Given the description of an element on the screen output the (x, y) to click on. 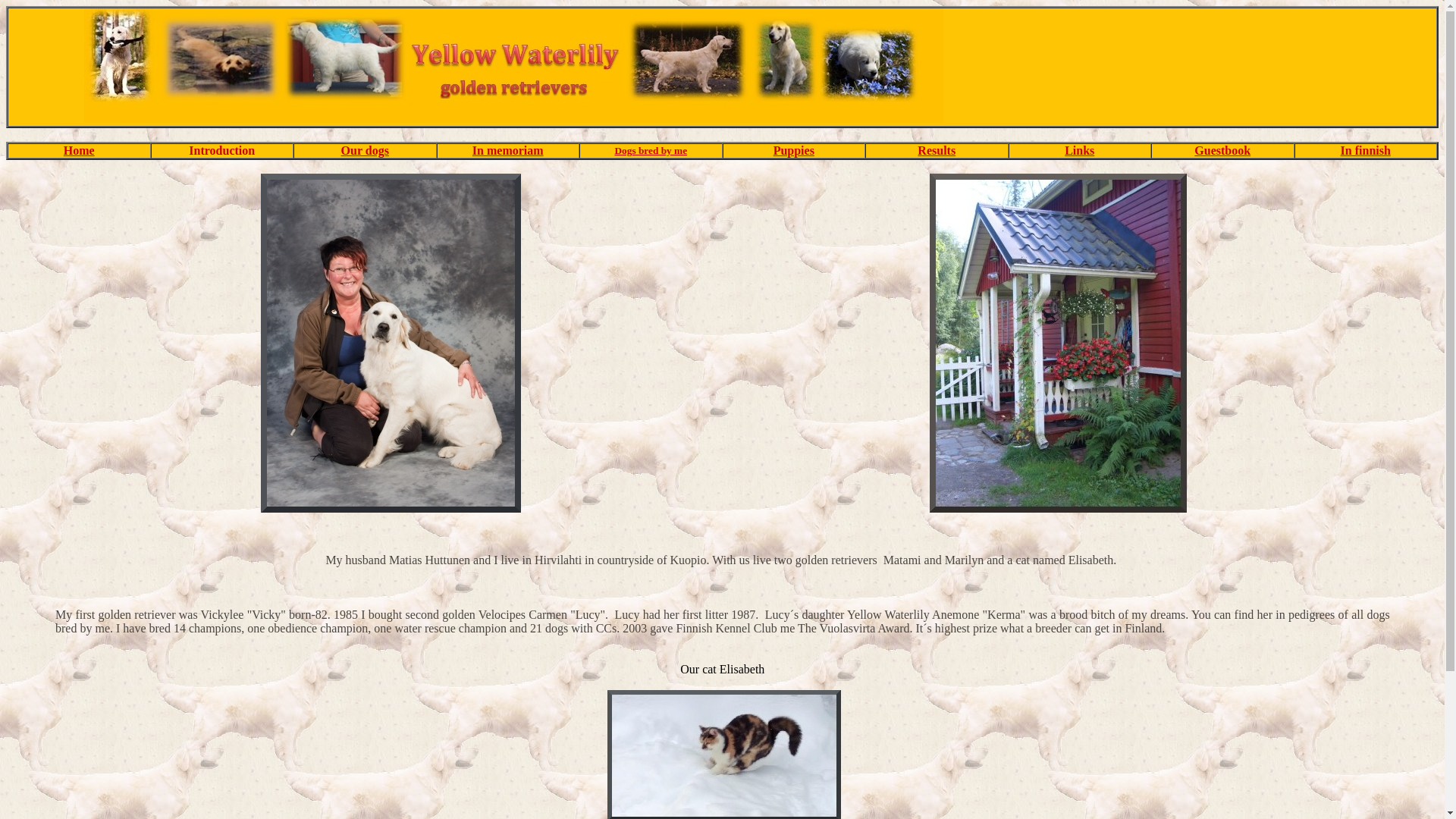
Links (1079, 150)
Our dogs (364, 150)
Guestbook (1221, 150)
Home (79, 150)
Results (936, 150)
In finnish (1365, 150)
In memoriam (507, 150)
Dogs bred by me (650, 150)
Puppies (793, 150)
